Given the description of an element on the screen output the (x, y) to click on. 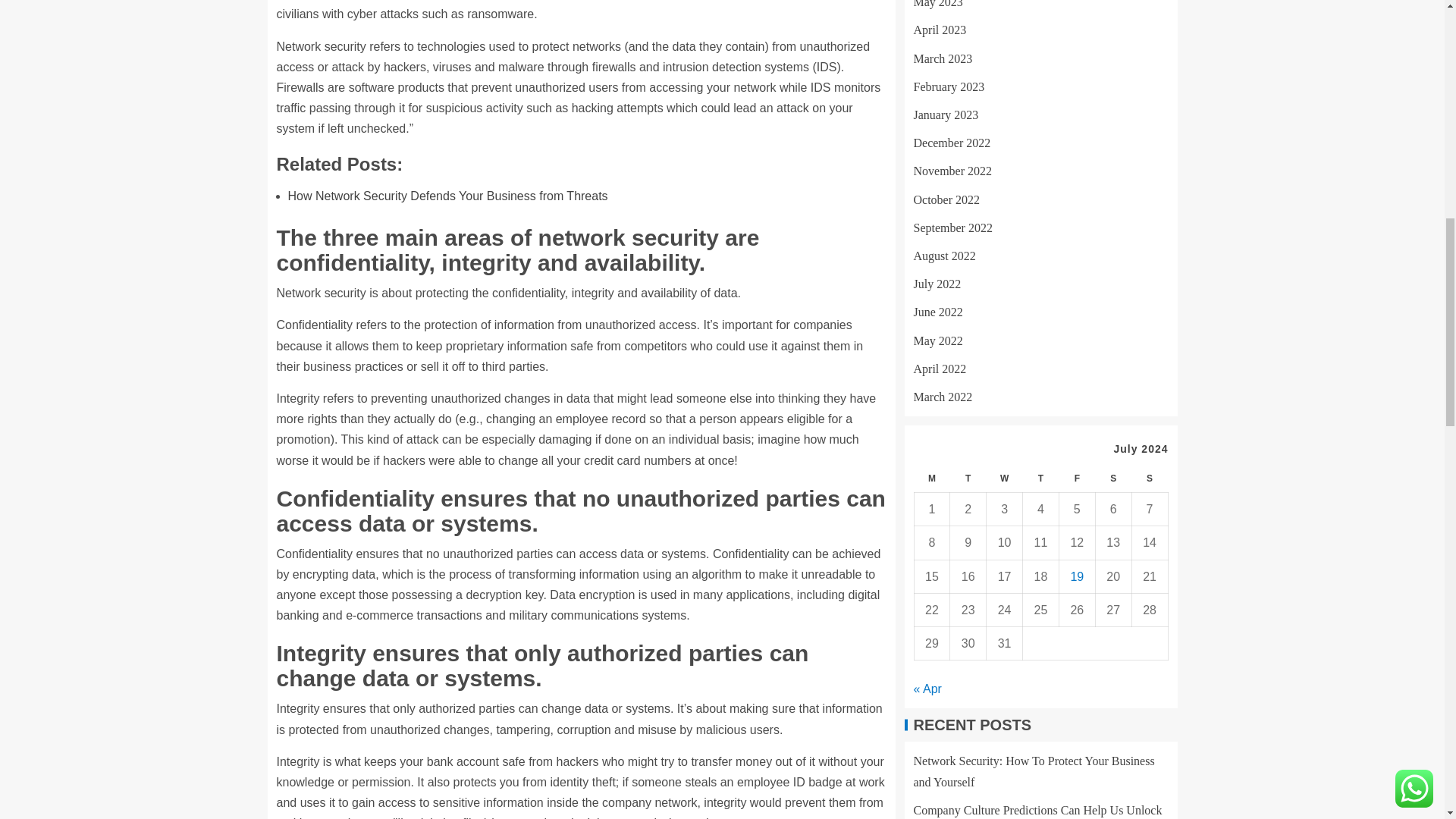
Saturday (1112, 336)
Monday (932, 336)
Sunday (1149, 336)
Wednesday (1005, 336)
Thursday (1041, 336)
Tuesday (968, 336)
Friday (1076, 336)
